Given the description of an element on the screen output the (x, y) to click on. 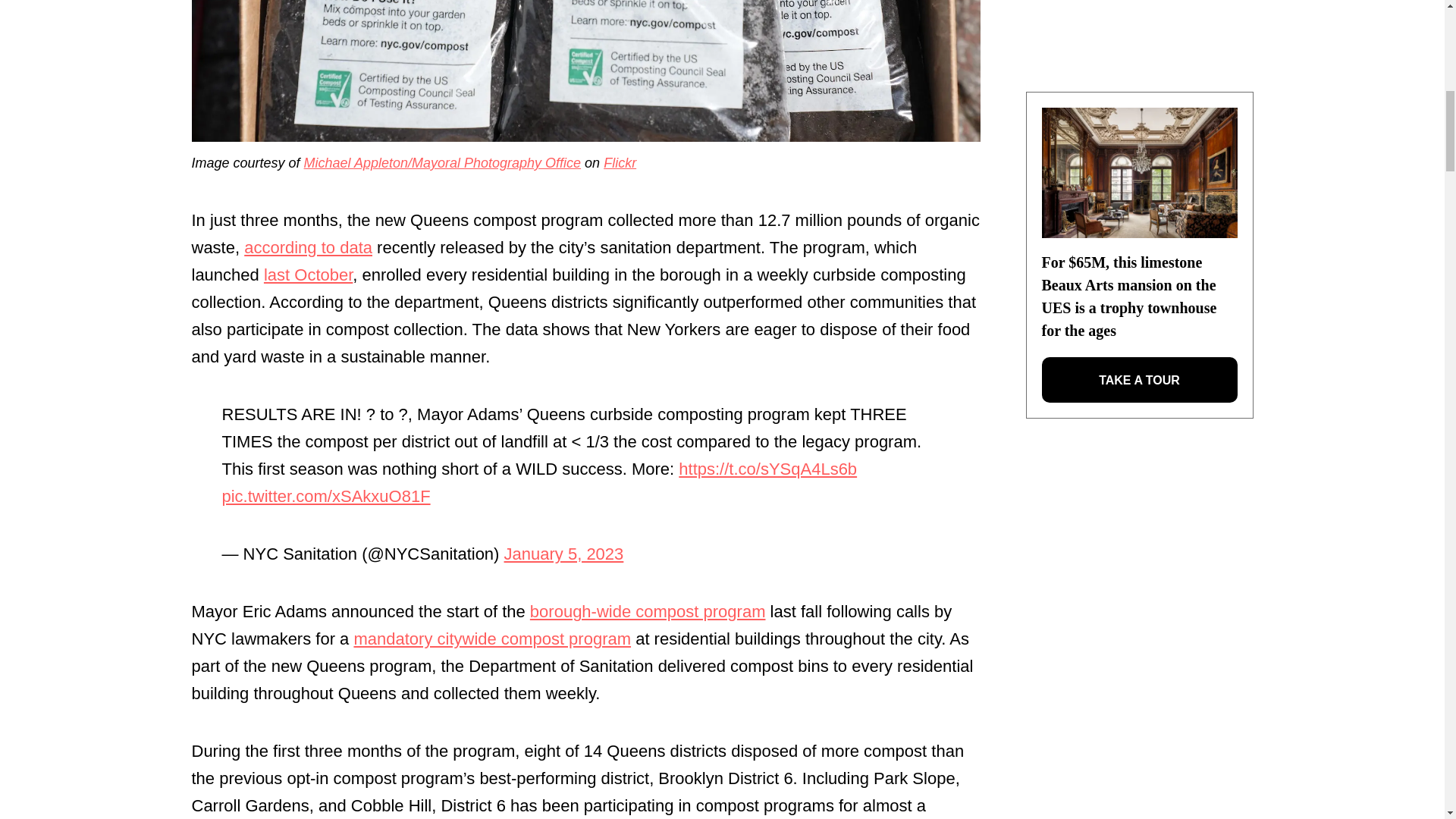
according to data (308, 247)
mandatory citywide compost program (491, 638)
January 5, 2023 (563, 553)
last October (307, 274)
Flickr (620, 162)
borough-wide compost program (647, 610)
